Given the description of an element on the screen output the (x, y) to click on. 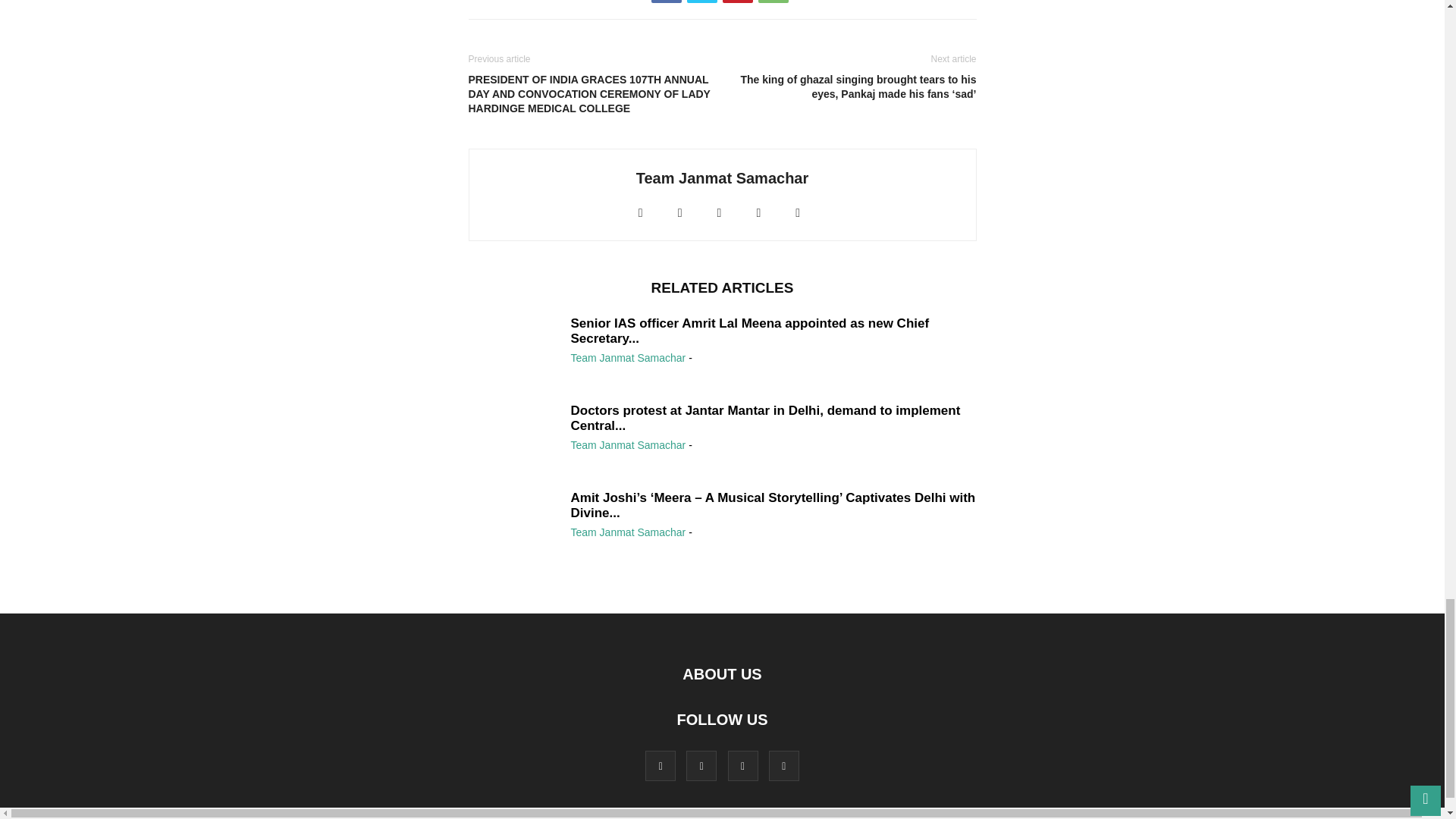
Team Janmat Samachar (722, 177)
Facebook (665, 1)
